Given the description of an element on the screen output the (x, y) to click on. 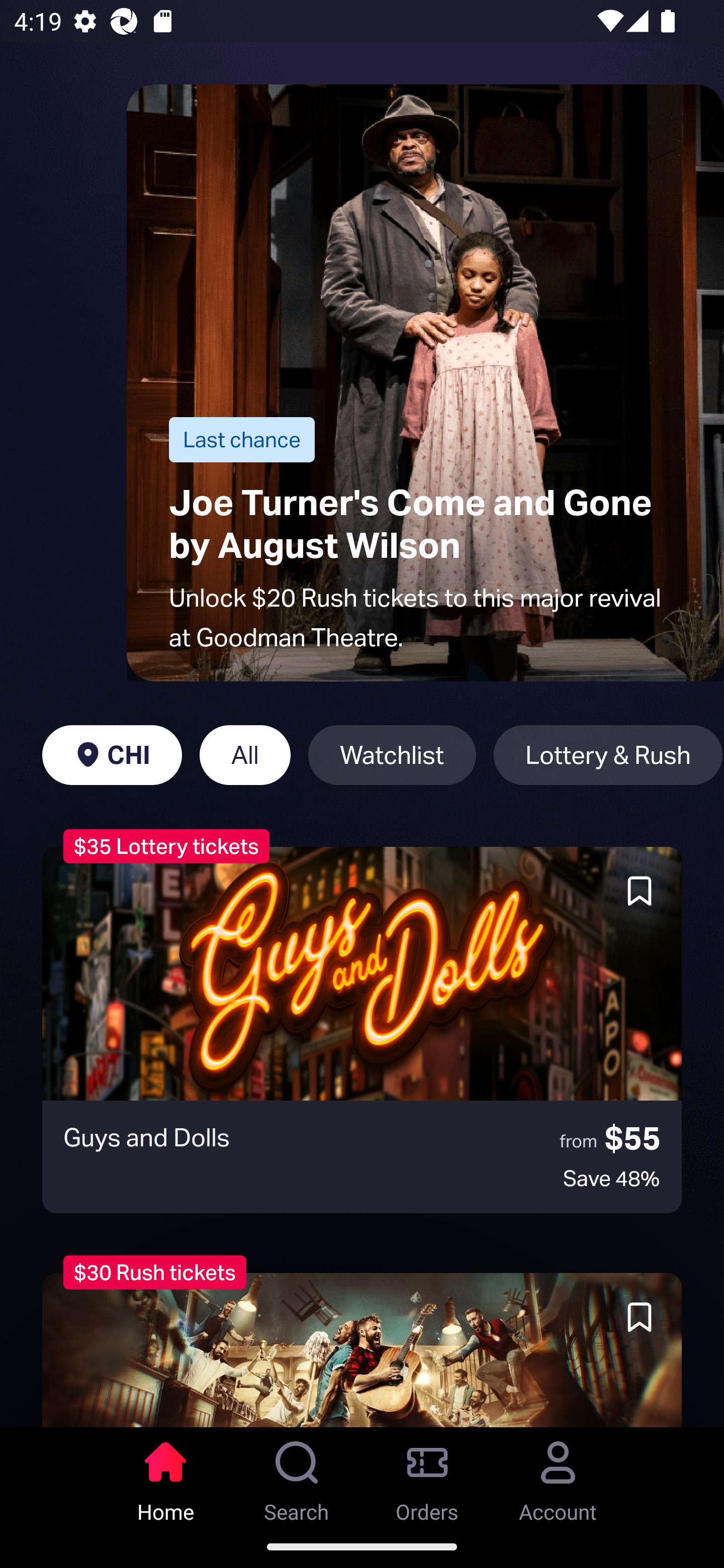
CHI (111, 754)
All (244, 754)
Watchlist (392, 754)
Lottery & Rush (607, 754)
Guys and Dolls from $55 Save 48% (361, 1029)
Search (296, 1475)
Orders (427, 1475)
Account (558, 1475)
